Given the description of an element on the screen output the (x, y) to click on. 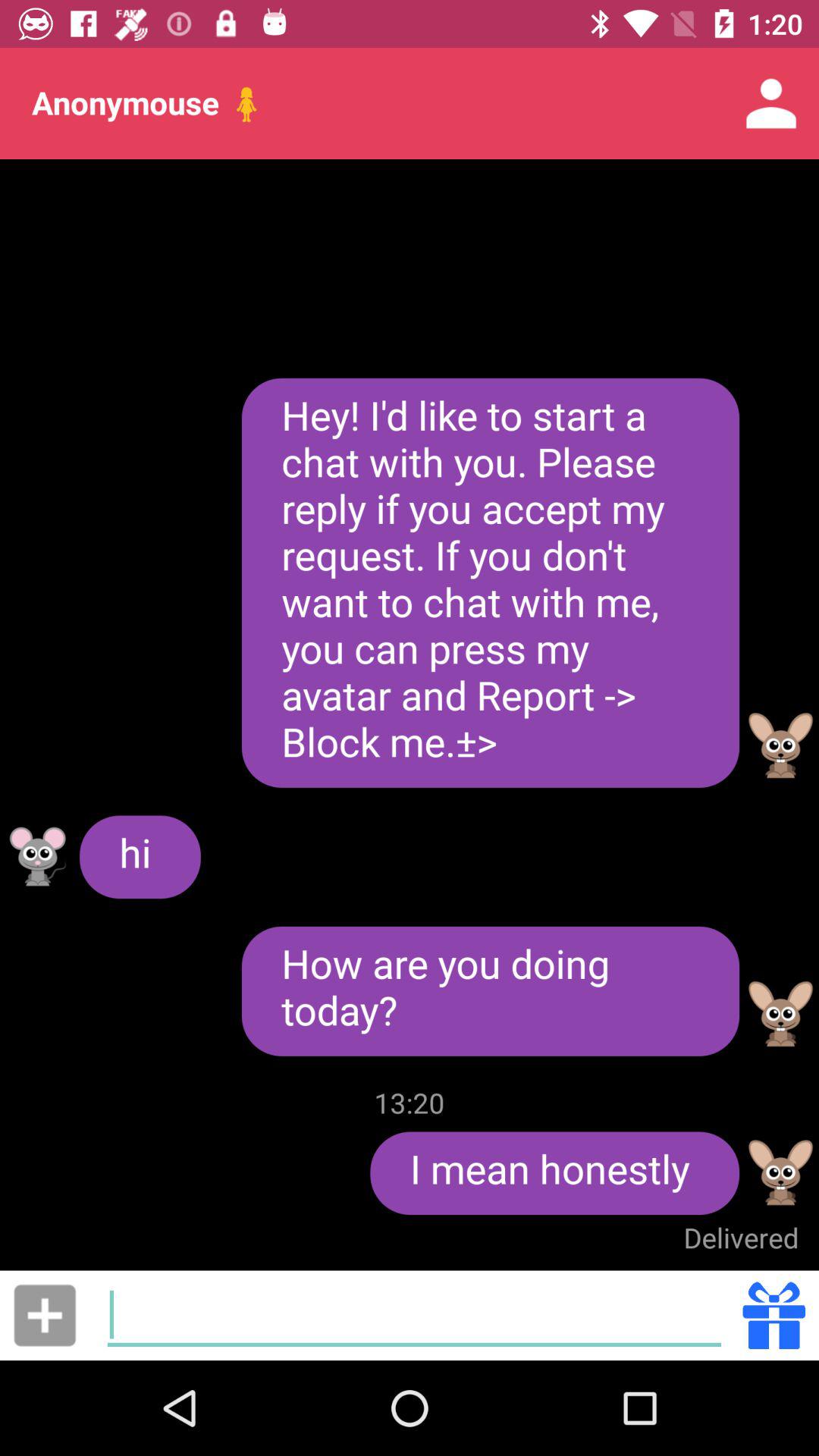
click to send message (44, 1315)
